Given the description of an element on the screen output the (x, y) to click on. 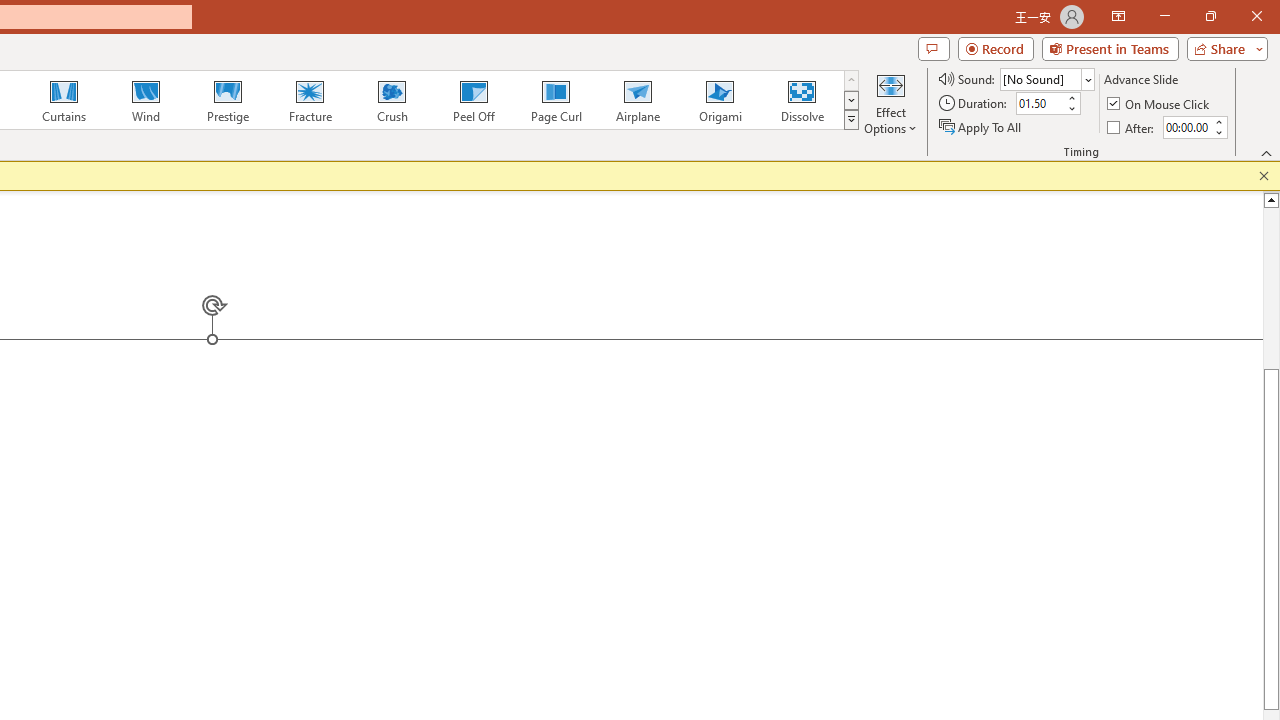
Styles... (538, 226)
Row Down (523, 162)
Heading 1 (267, 160)
Title (1130, 613)
Select (618, 196)
No Spacing (1130, 497)
acbfdd8b-e11b-4d36-88ff-6049b138f862 (1130, 411)
Task Pane Options (1186, 308)
Heading 2 (429, 160)
Normal (1130, 469)
